Given the description of an element on the screen output the (x, y) to click on. 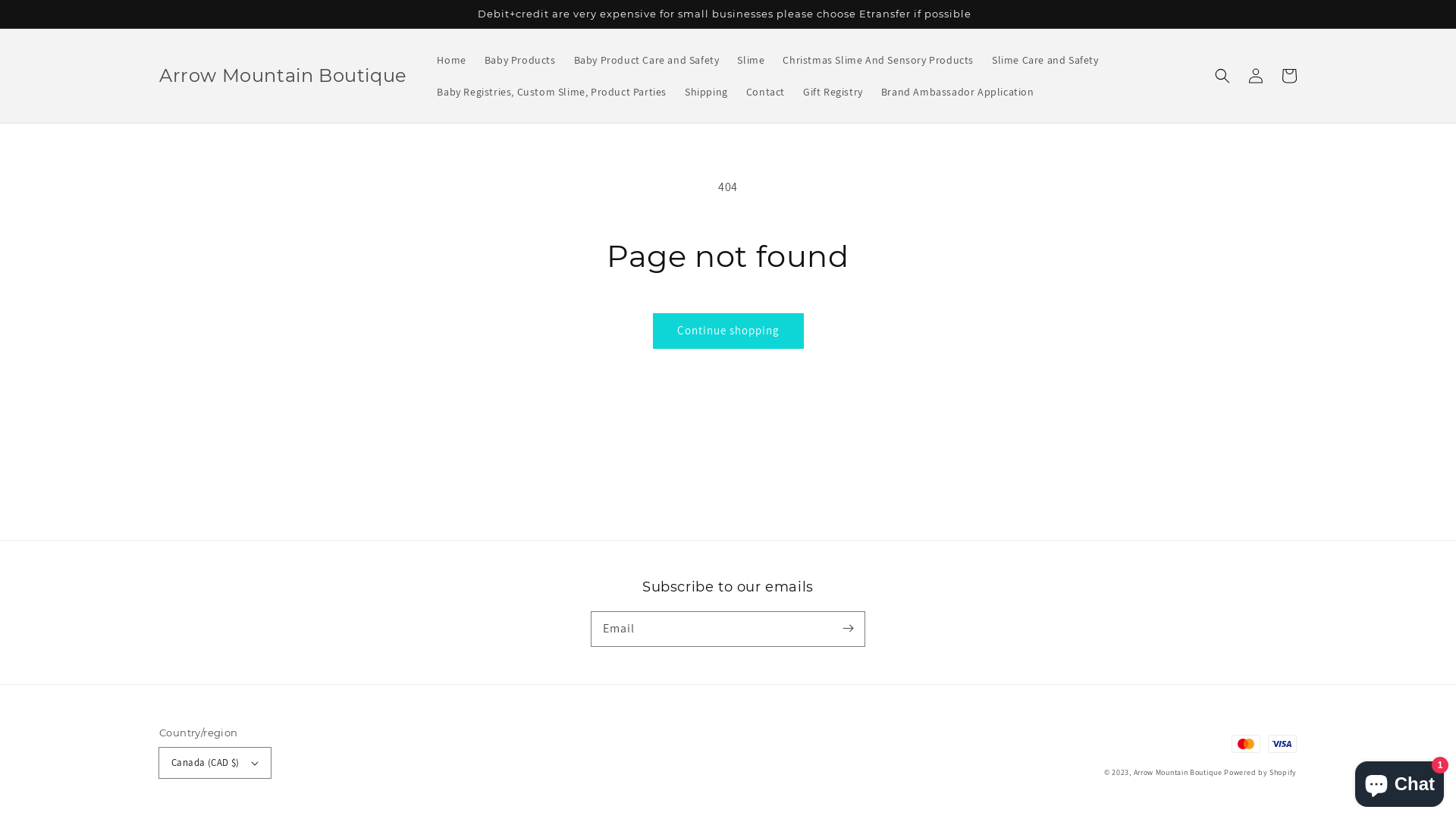
Baby Products Element type: text (519, 59)
Arrow Mountain Boutique Element type: text (282, 76)
Arrow Mountain Boutique Element type: text (1177, 772)
Brand Ambassador Application Element type: text (957, 91)
Baby Registries, Custom Slime, Product Parties Element type: text (551, 91)
Contact Element type: text (765, 91)
Log in Element type: text (1255, 75)
Canada (CAD $) Element type: text (214, 762)
Christmas Slime And Sensory Products Element type: text (877, 59)
Slime Element type: text (750, 59)
Shopify online store chat Element type: hover (1399, 780)
Continue shopping Element type: text (728, 330)
Shipping Element type: text (706, 91)
Slime Care and Safety Element type: text (1044, 59)
Gift Registry Element type: text (832, 91)
Cart Element type: text (1288, 75)
Powered by Shopify Element type: text (1259, 772)
Baby Product Care and Safety Element type: text (646, 59)
Home Element type: text (450, 59)
